Given the description of an element on the screen output the (x, y) to click on. 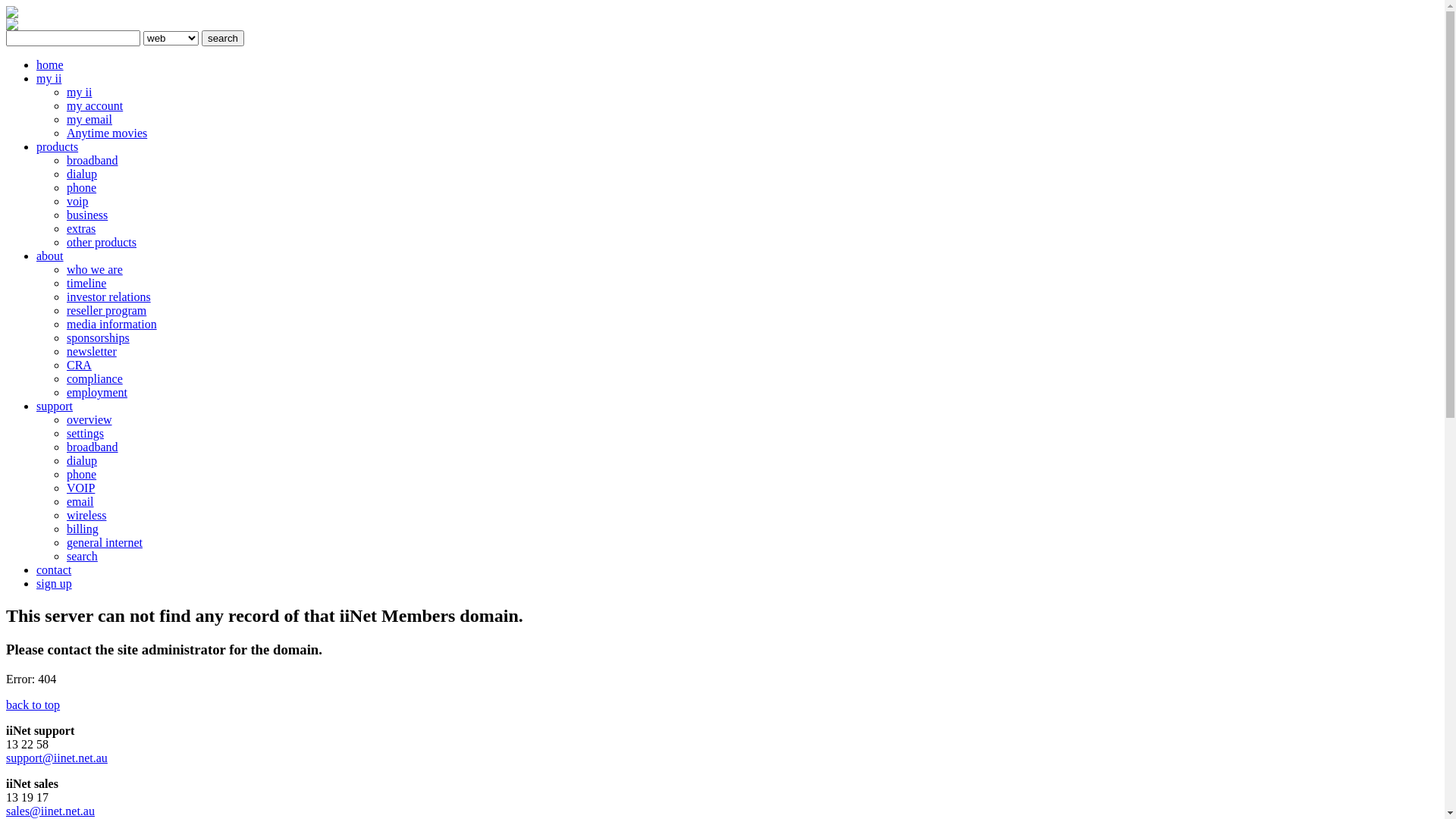
employment Element type: text (96, 391)
other products Element type: text (101, 241)
my ii Element type: text (78, 91)
extras Element type: text (80, 228)
support@iinet.net.au Element type: text (56, 757)
reseller program Element type: text (106, 310)
billing Element type: text (82, 528)
back to top Element type: text (32, 704)
broadband Element type: text (92, 446)
newsletter Element type: text (91, 351)
settings Element type: text (84, 432)
dialup Element type: text (81, 173)
phone Element type: text (81, 473)
contact Element type: text (53, 569)
my email Element type: text (89, 118)
search Element type: text (222, 38)
wireless Element type: text (86, 514)
dialup Element type: text (81, 460)
email Element type: text (80, 501)
sales@iinet.net.au Element type: text (50, 810)
voip Element type: text (76, 200)
home Element type: text (49, 64)
compliance Element type: text (94, 378)
CRA Element type: text (78, 364)
VOIP Element type: text (80, 487)
my ii Element type: text (48, 78)
about Element type: text (49, 255)
media information Element type: text (111, 323)
support Element type: text (54, 405)
business Element type: text (86, 214)
products Element type: text (57, 146)
my account Element type: text (94, 105)
timeline Element type: text (86, 282)
sign up Element type: text (54, 583)
phone Element type: text (81, 187)
sponsorships Element type: text (97, 337)
general internet Element type: text (104, 542)
broadband Element type: text (92, 159)
Anytime movies Element type: text (106, 132)
search Element type: text (81, 555)
investor relations Element type: text (108, 296)
who we are Element type: text (94, 269)
overview Element type: text (89, 419)
